Given the description of an element on the screen output the (x, y) to click on. 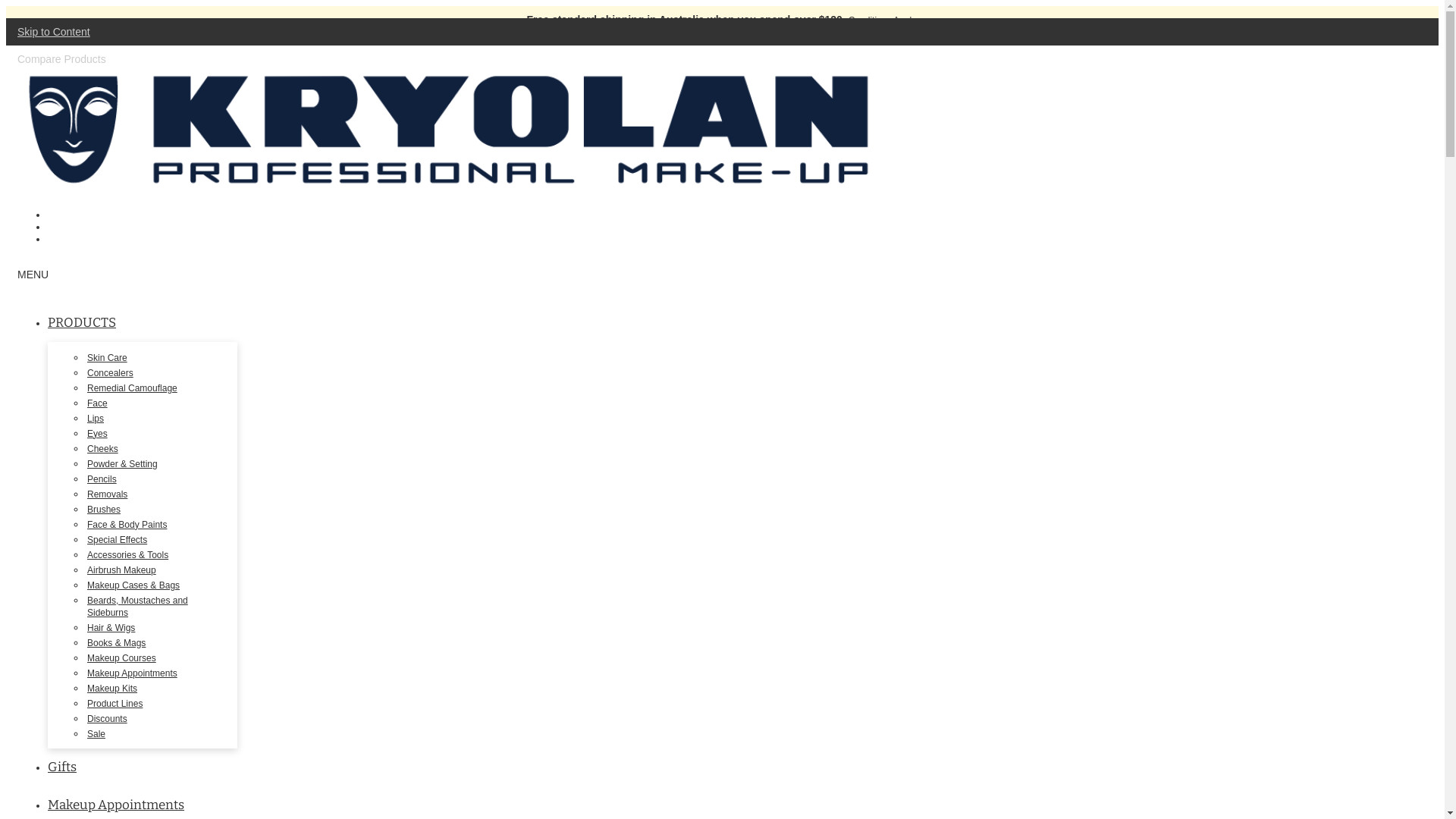
Makeup Courses Element type: text (121, 657)
Special Effects Element type: text (117, 539)
Sale Element type: text (96, 733)
Eyes Element type: text (97, 433)
Airbrush Makeup Element type: text (121, 569)
Face & Body Paints Element type: text (126, 524)
Makeup Kits Element type: text (112, 688)
Makeup Appointments Element type: text (115, 804)
Remedial Camouflage Element type: text (132, 387)
Powder & Setting Element type: text (122, 463)
Gifts Element type: text (61, 767)
Kryolan Professional Make-Up Australia Element type: hover (449, 184)
Makeup Cases & Bags Element type: text (133, 585)
Kryolan Professional Make-Up Australia Element type: hover (449, 130)
Skip to Content Element type: text (53, 31)
Cheeks Element type: text (102, 448)
Discounts Element type: text (107, 718)
PRODUCTS Element type: text (81, 322)
Lips Element type: text (95, 418)
Skin Care Element type: text (107, 357)
Removals Element type: text (107, 494)
Books & Mags Element type: text (116, 642)
Compare Products Element type: text (61, 59)
Beards, Moustaches and Sideburns Element type: text (137, 606)
Concealers Element type: text (110, 372)
Face Element type: text (97, 403)
Hair & Wigs Element type: text (110, 627)
Makeup Appointments Element type: text (132, 673)
Brushes Element type: text (103, 509)
Accessories & Tools Element type: text (127, 554)
Product Lines Element type: text (114, 703)
Pencils Element type: text (101, 478)
